Given the description of an element on the screen output the (x, y) to click on. 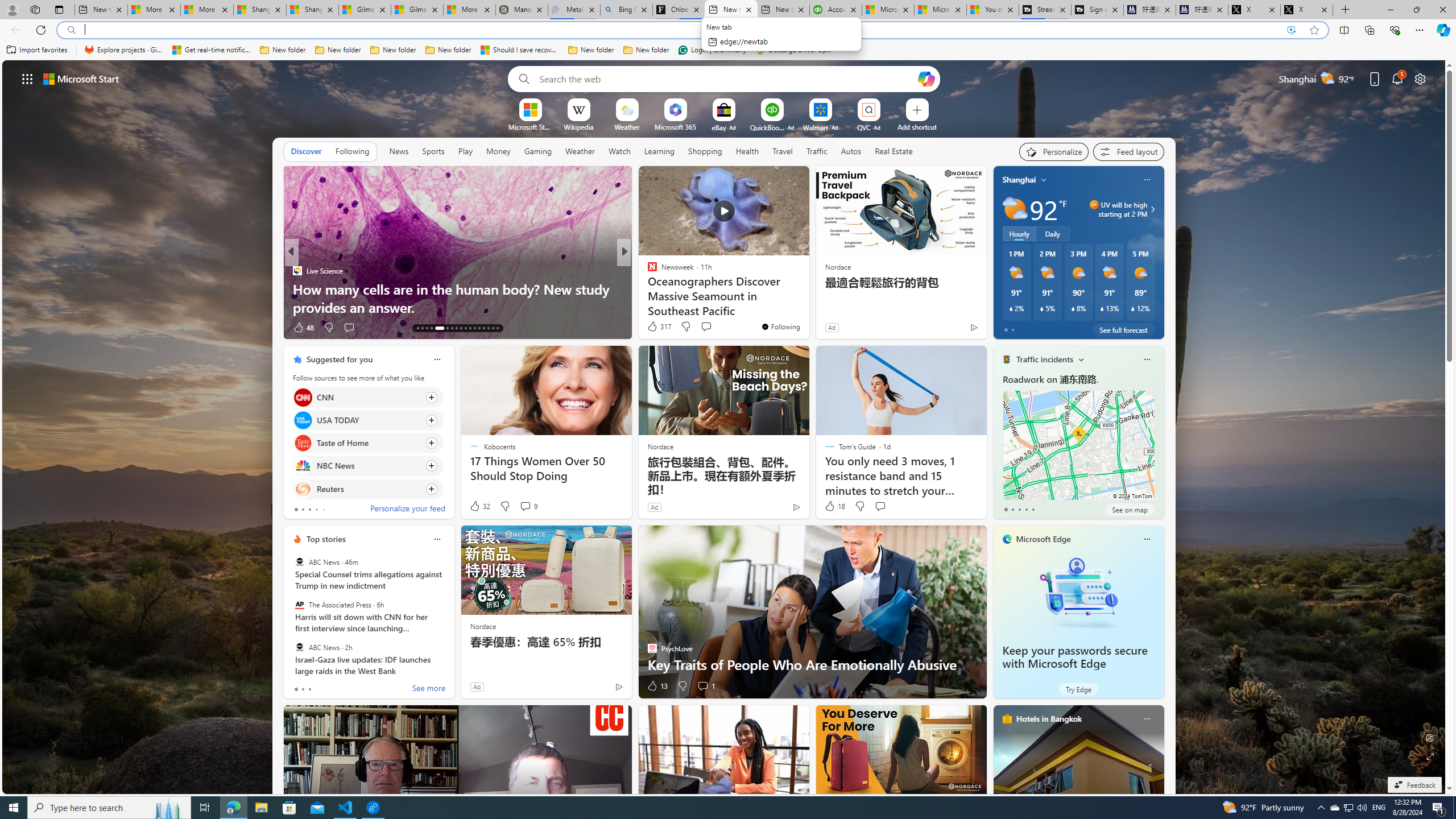
Miners Discover Perfectly Preserved Prehistoric Woolly Rhino (807, 298)
Newsweek (647, 270)
View comments 16 Comment (707, 327)
Watch (619, 151)
Autos (850, 151)
Travel (782, 151)
ETNT Mind+Body (647, 270)
Edit Background (1430, 737)
View comments 49 Comment (703, 327)
Taste of Home (302, 443)
Health (746, 151)
Personalize your feed (407, 509)
